Given the description of an element on the screen output the (x, y) to click on. 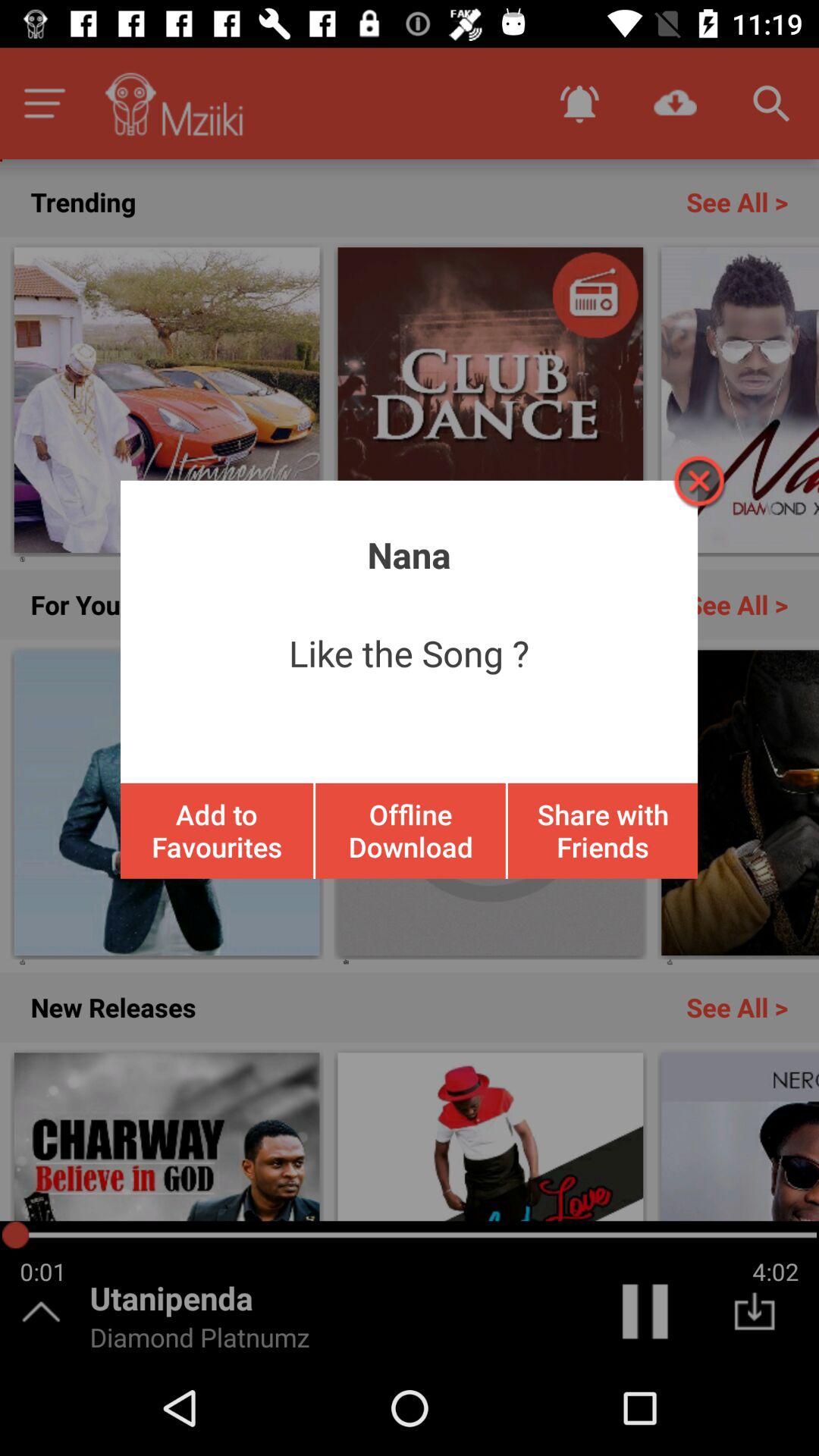
launch the icon below the like the song ? item (216, 830)
